Given the description of an element on the screen output the (x, y) to click on. 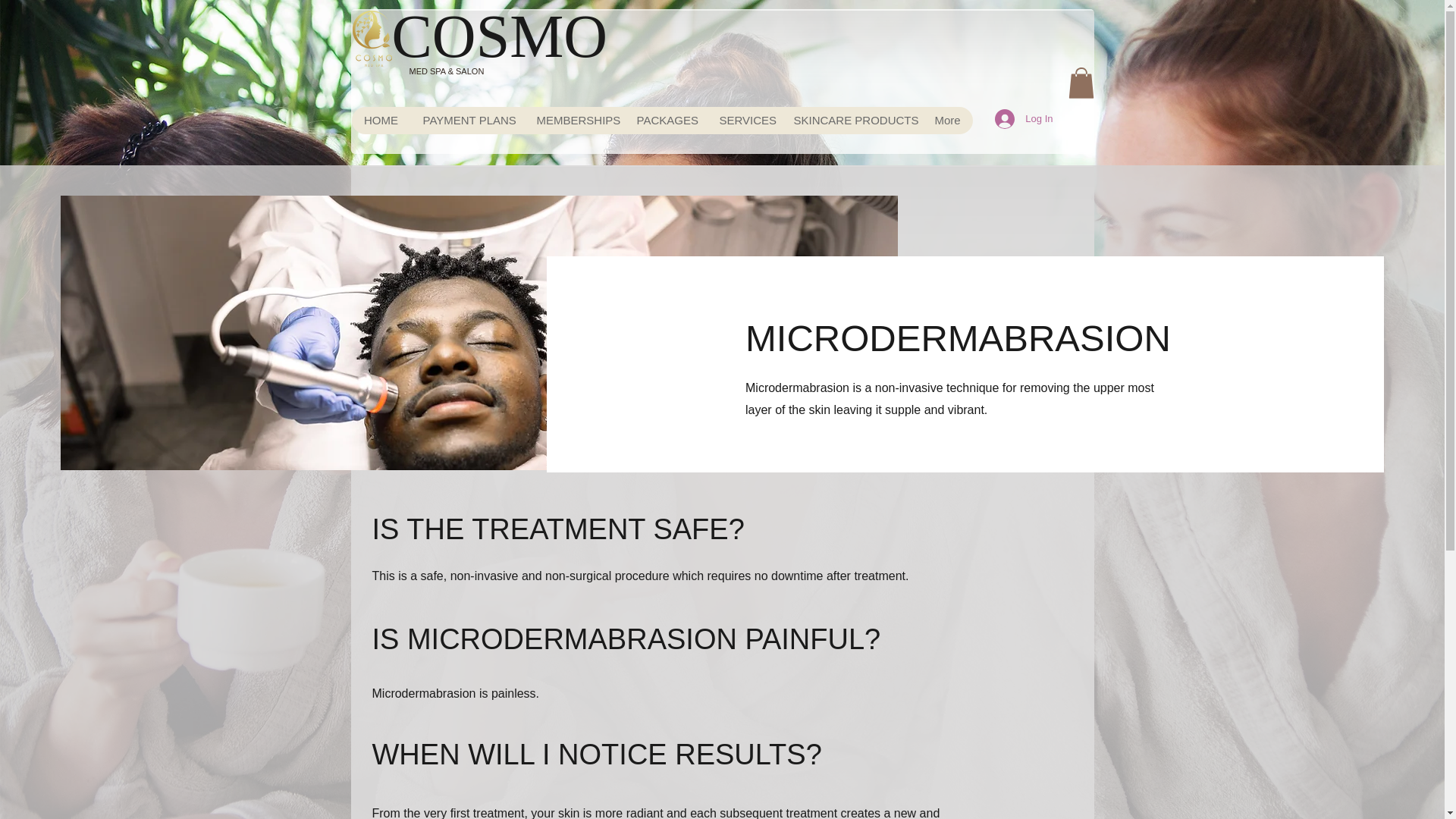
MEMBERSHIPS (574, 120)
HOME (381, 120)
Log In (1023, 118)
PAYMENT PLANS (467, 120)
PACKAGES (665, 120)
SERVICES (743, 120)
SKINCARE PRODUCTS (850, 120)
COSMO (499, 36)
